Given the description of an element on the screen output the (x, y) to click on. 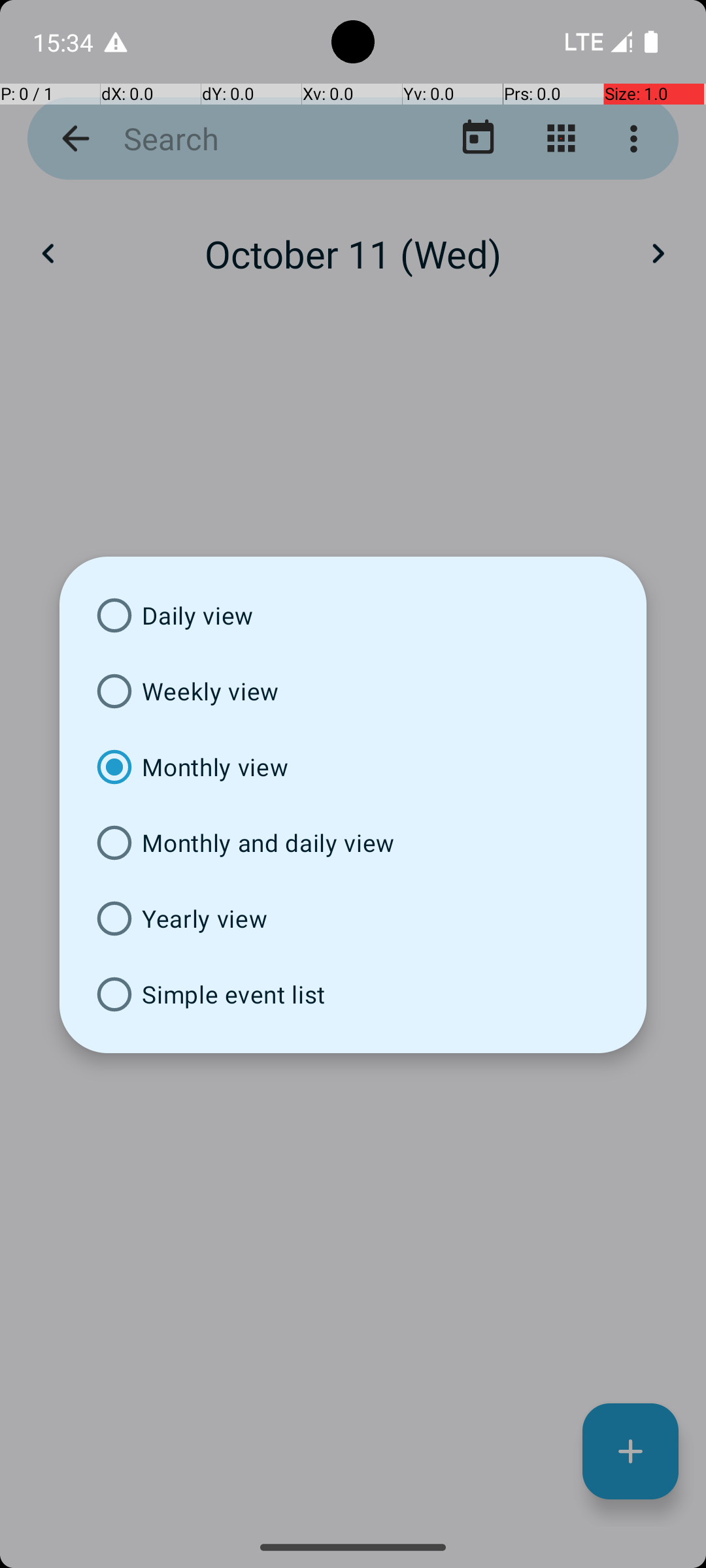
Daily view Element type: android.widget.RadioButton (352, 615)
Weekly view Element type: android.widget.RadioButton (352, 691)
Monthly view Element type: android.widget.RadioButton (352, 766)
Monthly and daily view Element type: android.widget.RadioButton (352, 842)
Yearly view Element type: android.widget.RadioButton (352, 918)
Simple event list Element type: android.widget.RadioButton (352, 994)
